Given the description of an element on the screen output the (x, y) to click on. 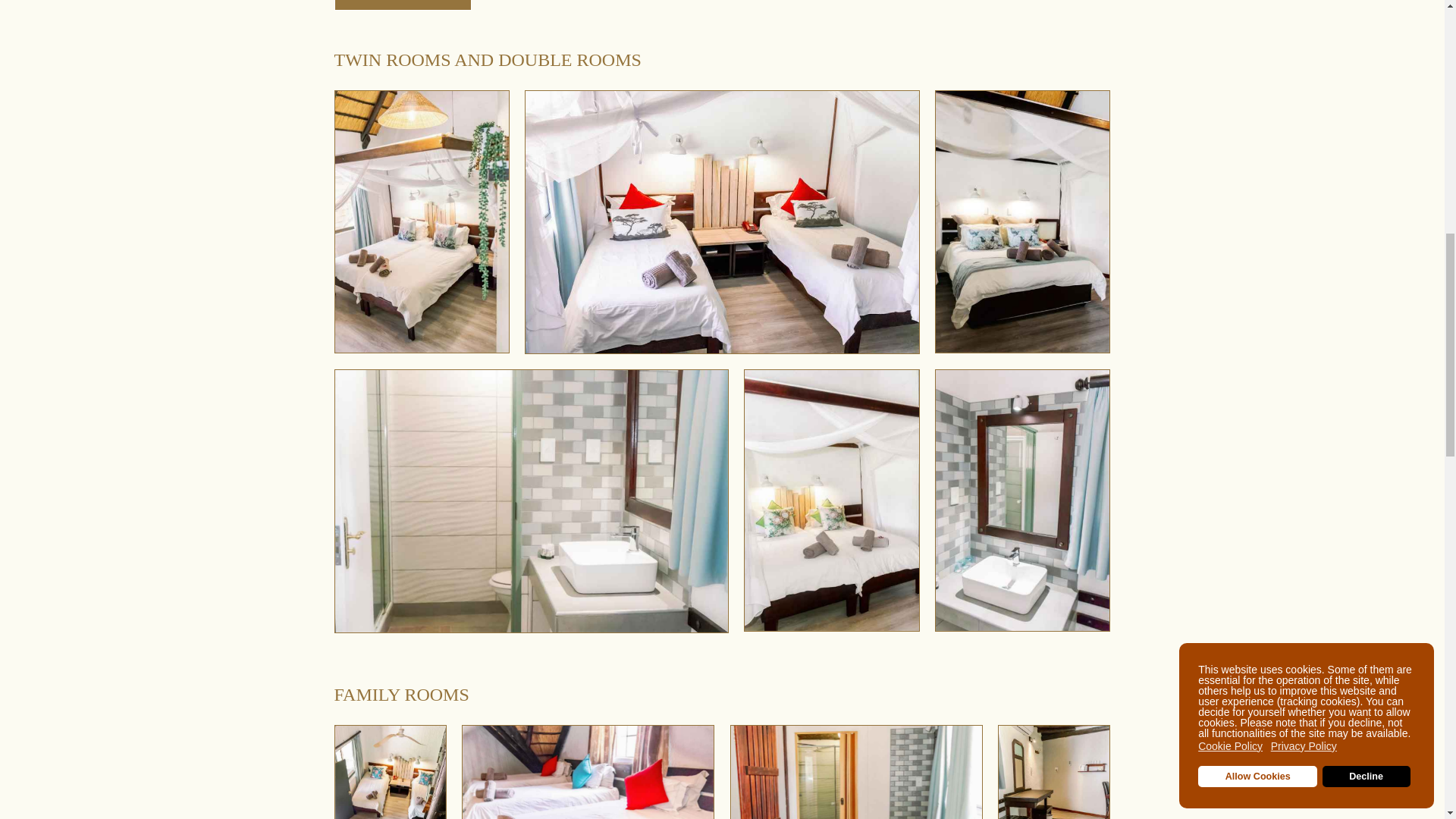
Make a Booking (402, 5)
